Given the description of an element on the screen output the (x, y) to click on. 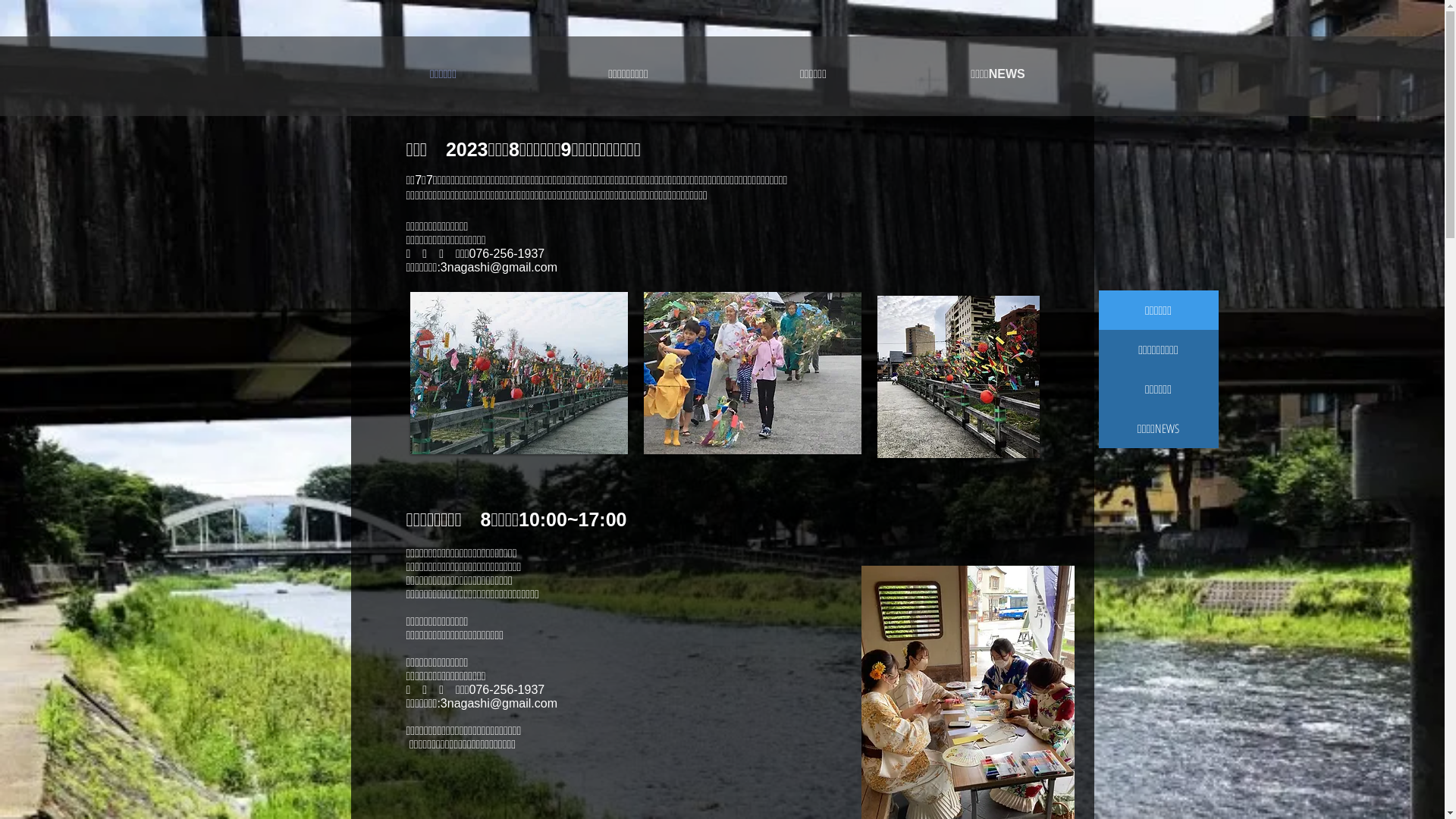
3nagashi@gmail.com Element type: text (498, 266)
3nagashi@gmail.com Element type: text (498, 702)
